Given the description of an element on the screen output the (x, y) to click on. 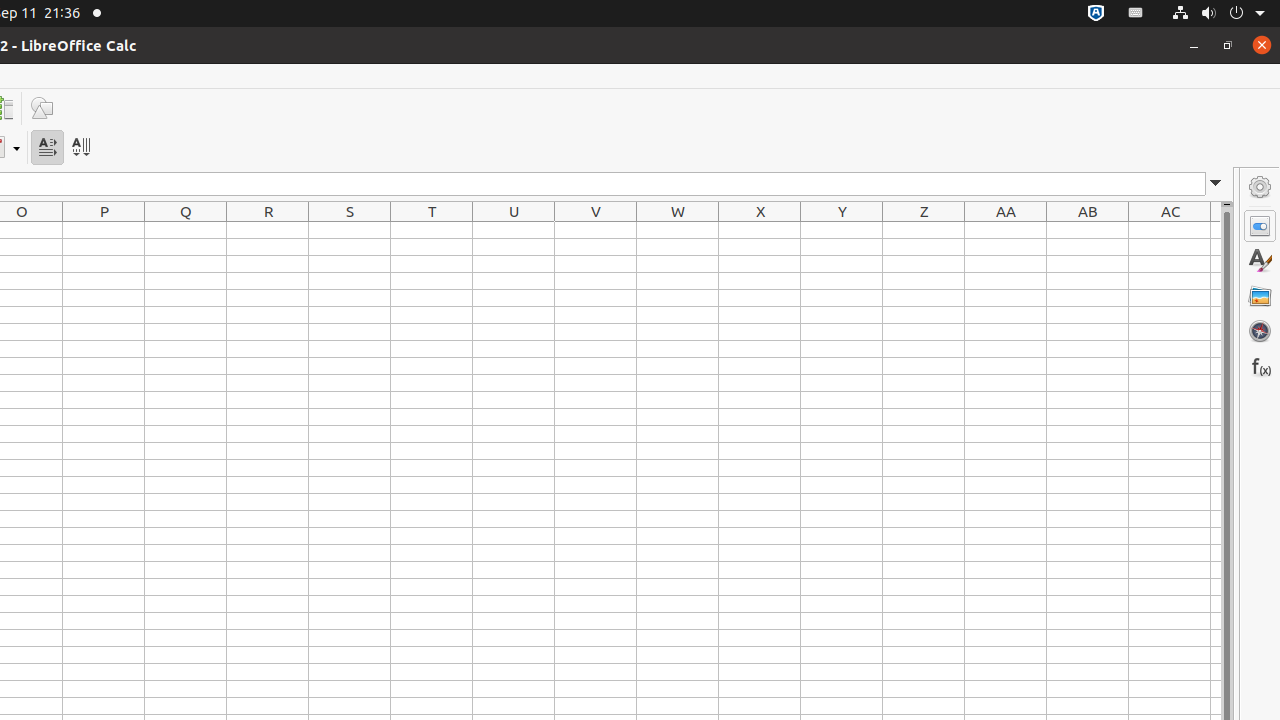
AA1 Element type: table-cell (1006, 230)
AD1 Element type: table-cell (1216, 230)
Text direction from left to right Element type: toggle-button (47, 147)
